Given the description of an element on the screen output the (x, y) to click on. 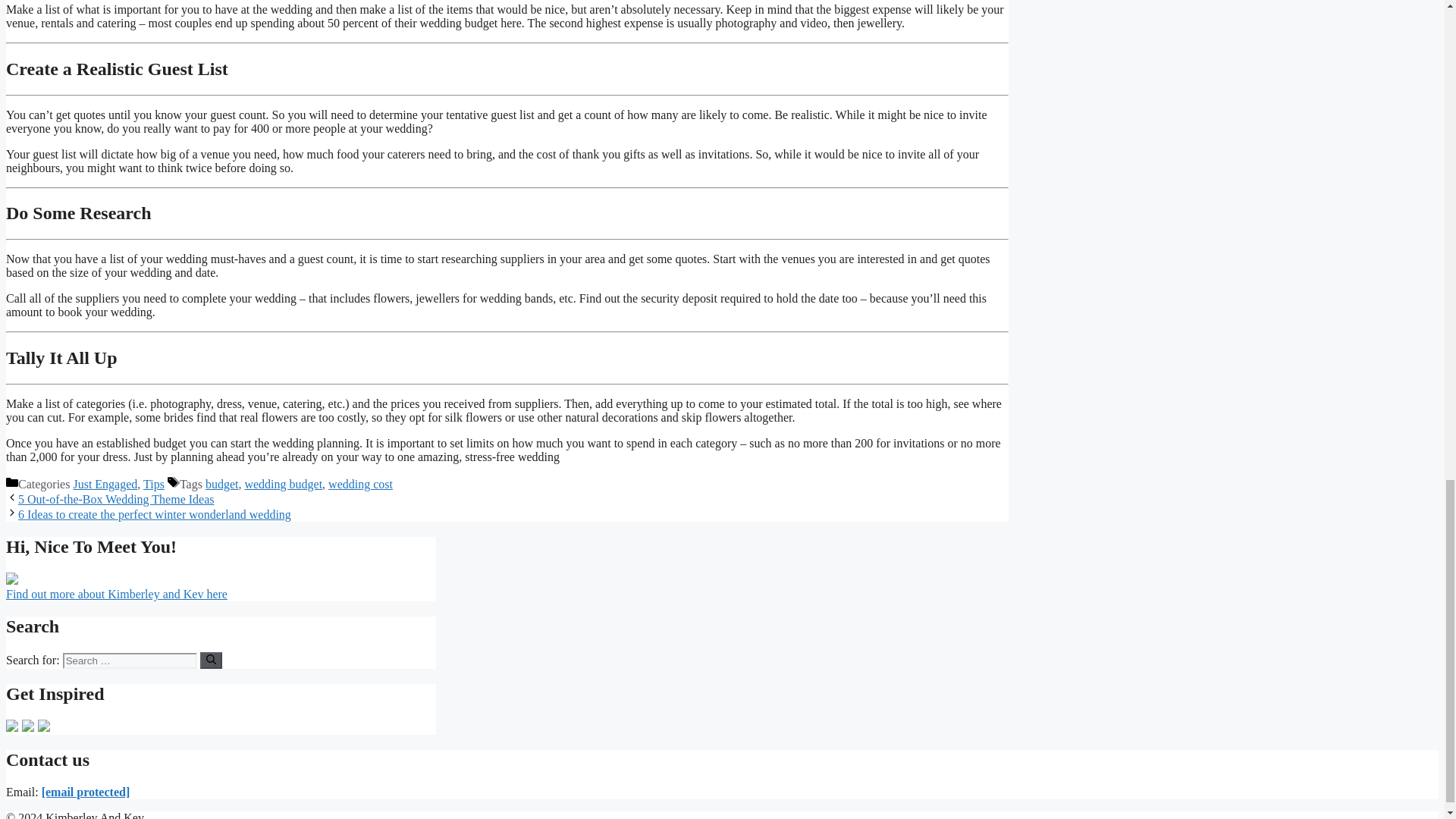
Search for: (129, 660)
Just Engaged (104, 483)
wedding cost (361, 483)
5 Out-of-the-Box Wedding Theme Ideas (115, 499)
wedding budget (282, 483)
6 Ideas to create the perfect winter wonderland wedding (154, 513)
budget (221, 483)
Tips (153, 483)
